Given the description of an element on the screen output the (x, y) to click on. 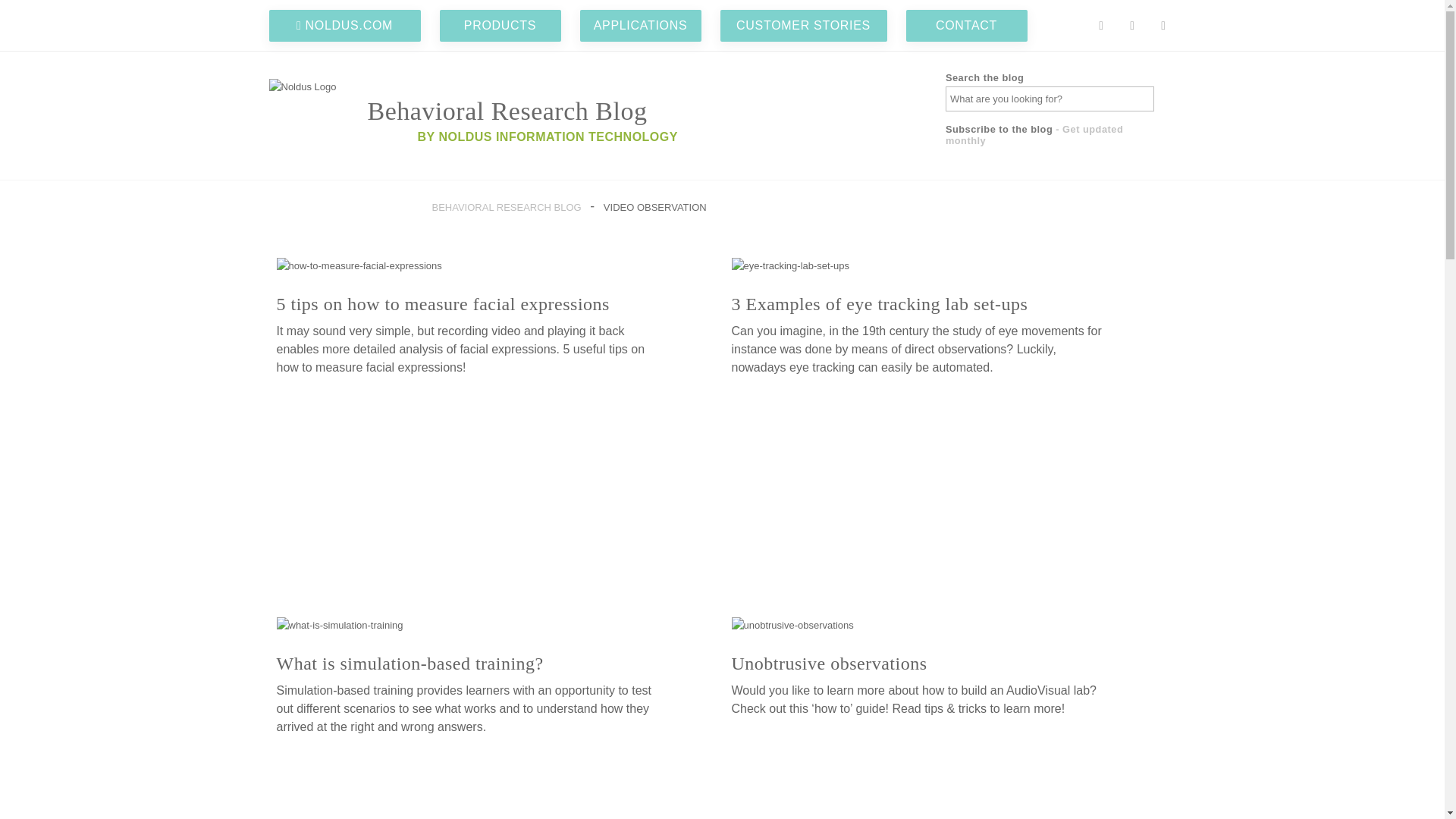
Twitter (1132, 26)
Linkedin (1163, 26)
CUSTOMER STORIES (812, 24)
Noldus Logo (301, 86)
PRODUCTS (509, 24)
BEHAVIORAL RESEARCH BLOG (506, 206)
5 tips on how to measure facial expressions (442, 303)
5 tips on how to measure facial expressions (358, 265)
APPLICATIONS (639, 24)
CONTACT (975, 24)
